Given the description of an element on the screen output the (x, y) to click on. 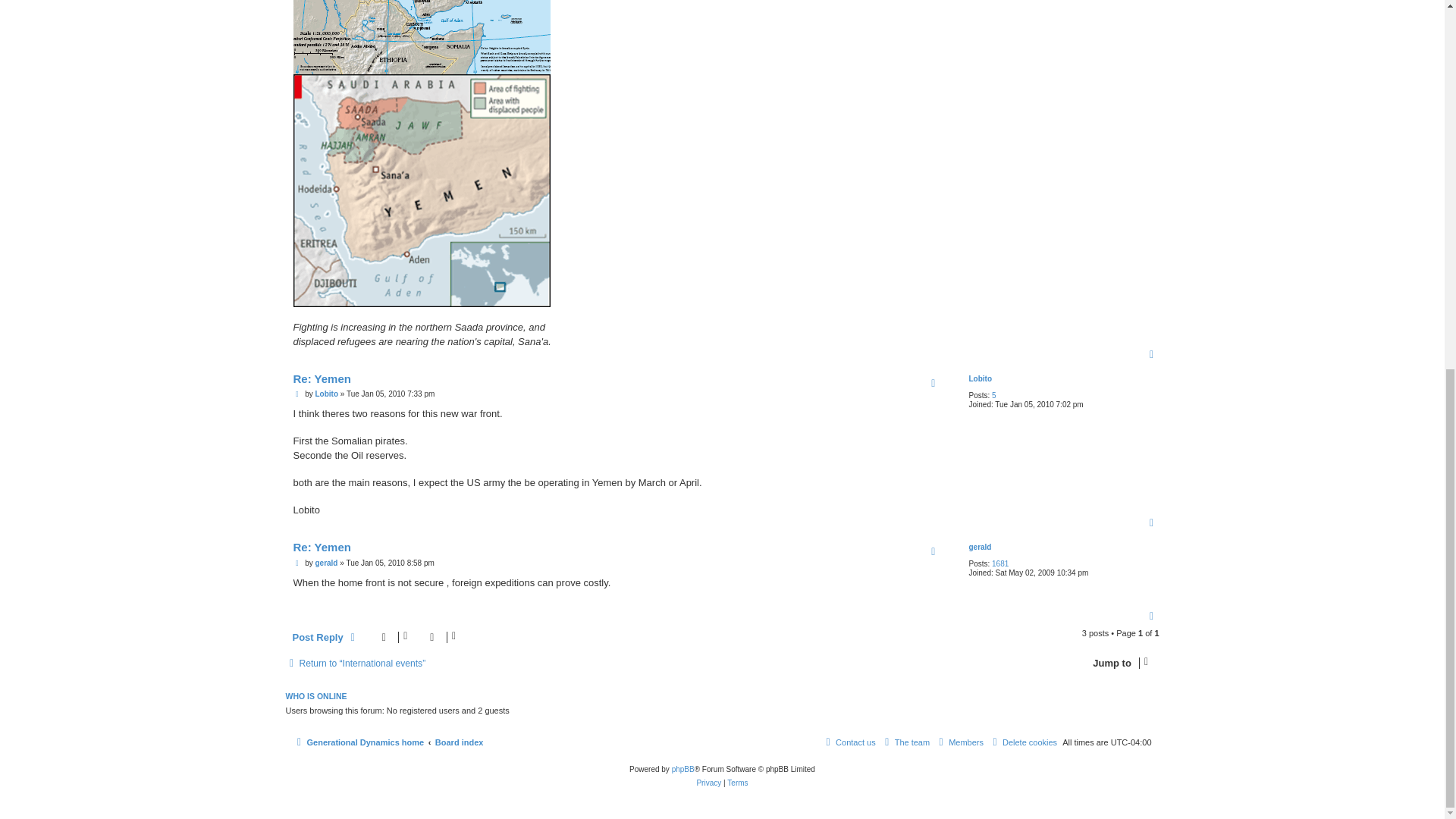
Re: Yemen (321, 379)
Quote (933, 383)
Lobito (979, 379)
Top (1151, 354)
